Given the description of an element on the screen output the (x, y) to click on. 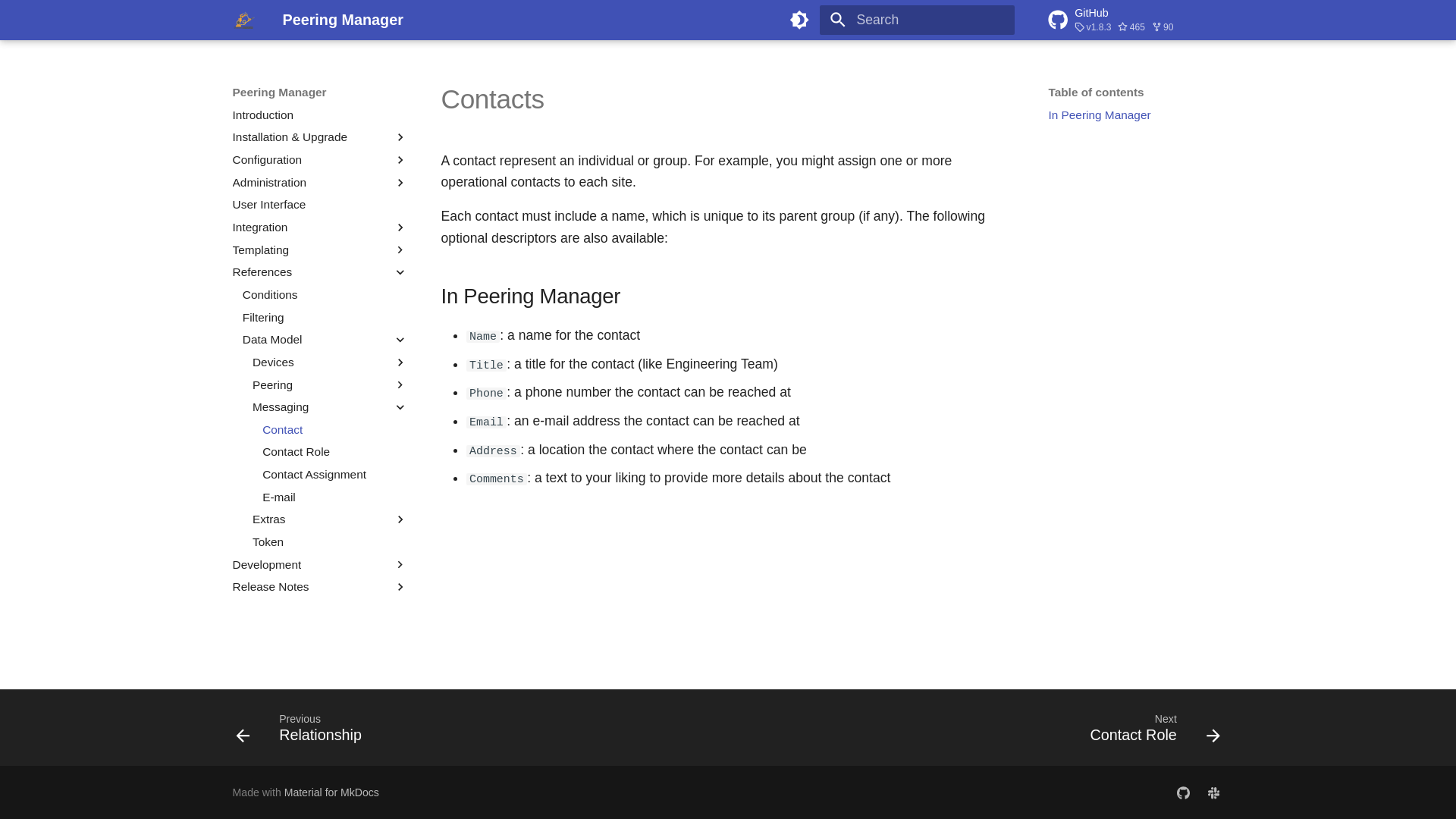
Switch to Dark Mode (799, 19)
Go to repository (1135, 20)
Configuration (308, 159)
GitHub (1135, 20)
Introduction (319, 114)
netdev.chat (1135, 377)
User Interface (1213, 791)
Peering Manager (319, 204)
github.com (243, 19)
Templating (1183, 791)
